Given the description of an element on the screen output the (x, y) to click on. 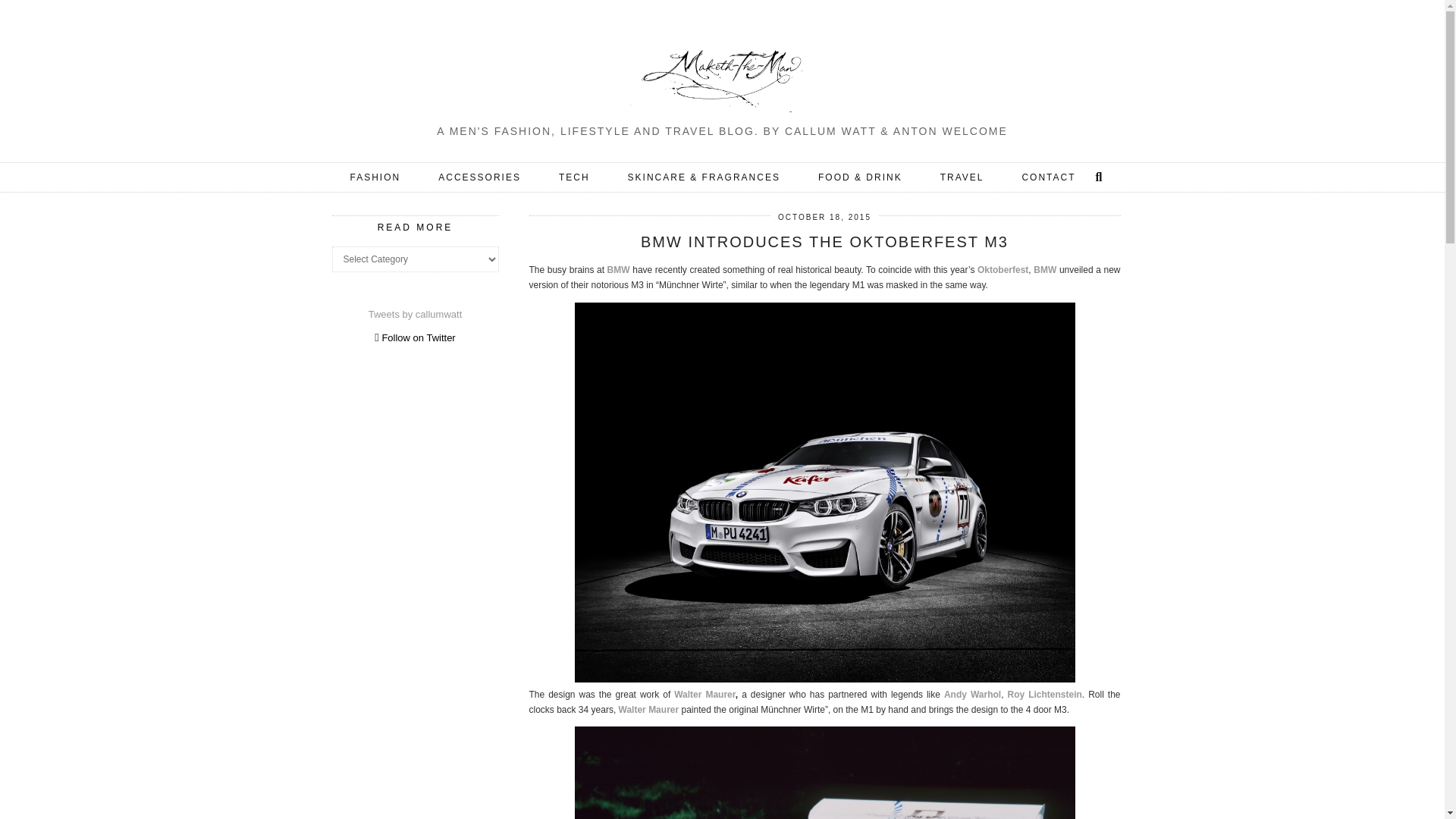
Roy Lichtenstein (1044, 694)
FASHION (375, 176)
ACCESSORIES (479, 176)
BMW (1045, 269)
Walter Maurer (648, 709)
CONTACT (1048, 176)
TECH (574, 176)
TRAVEL (962, 176)
Andy Warhol (972, 694)
Oktoberfest (1001, 269)
BMW (620, 269)
Walter Maurer (704, 694)
